Given the description of an element on the screen output the (x, y) to click on. 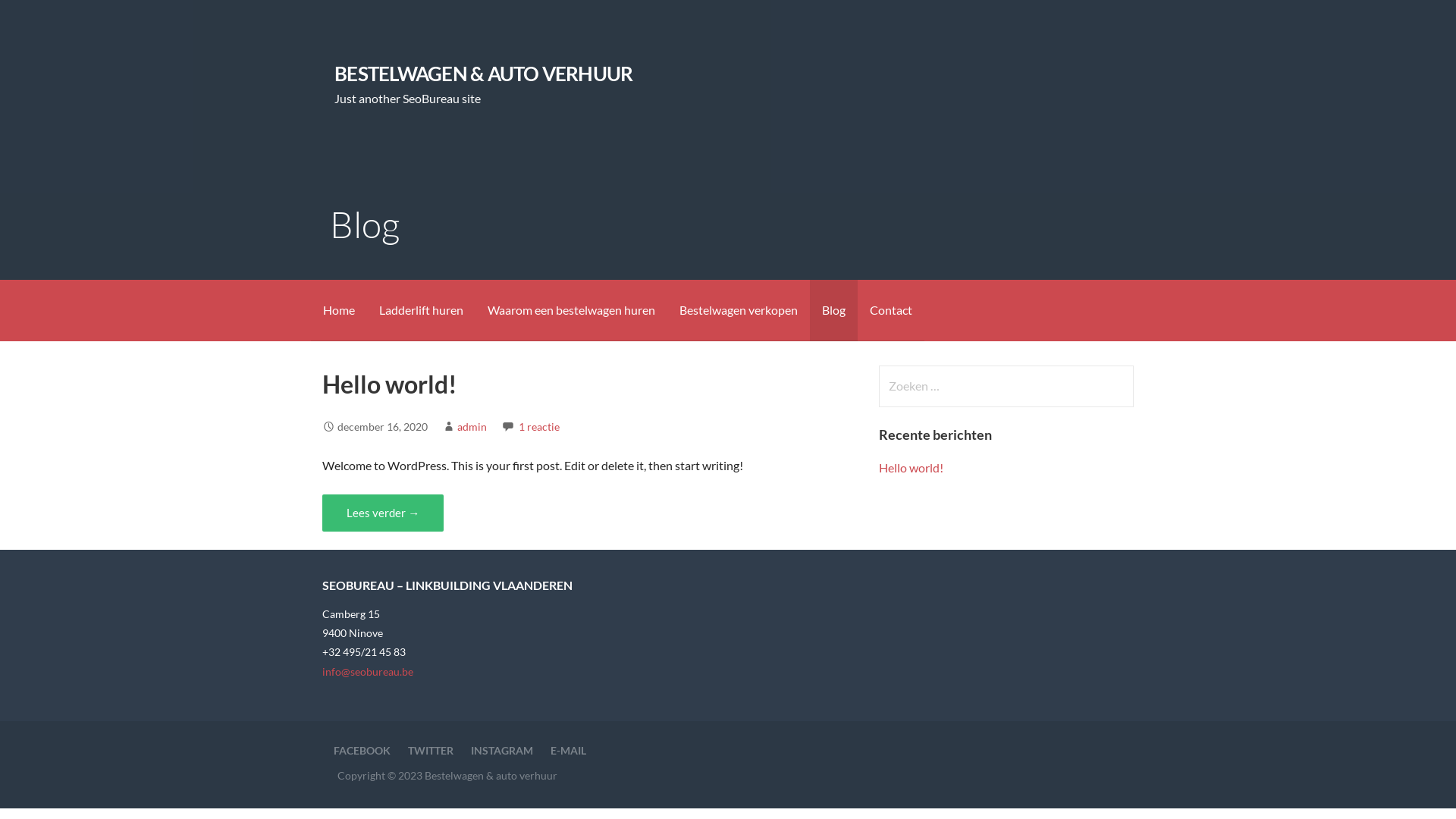
E-MAIL Element type: text (568, 749)
1 reactie Element type: text (538, 426)
INSTAGRAM Element type: text (501, 749)
Home Element type: text (338, 310)
Zoeken Element type: text (42, 18)
Blog Element type: text (833, 310)
FACEBOOK Element type: text (361, 749)
Waarom een bestelwagen huren Element type: text (571, 310)
admin Element type: text (471, 426)
Hello world! Element type: text (910, 467)
info@seobureau.be Element type: text (367, 671)
TWITTER Element type: text (430, 749)
Hello world! Element type: text (389, 383)
BESTELWAGEN & AUTO VERHUUR Element type: text (483, 73)
Contact Element type: text (890, 310)
Ladderlift huren Element type: text (421, 310)
Bestelwagen verkopen Element type: text (738, 310)
